Given the description of an element on the screen output the (x, y) to click on. 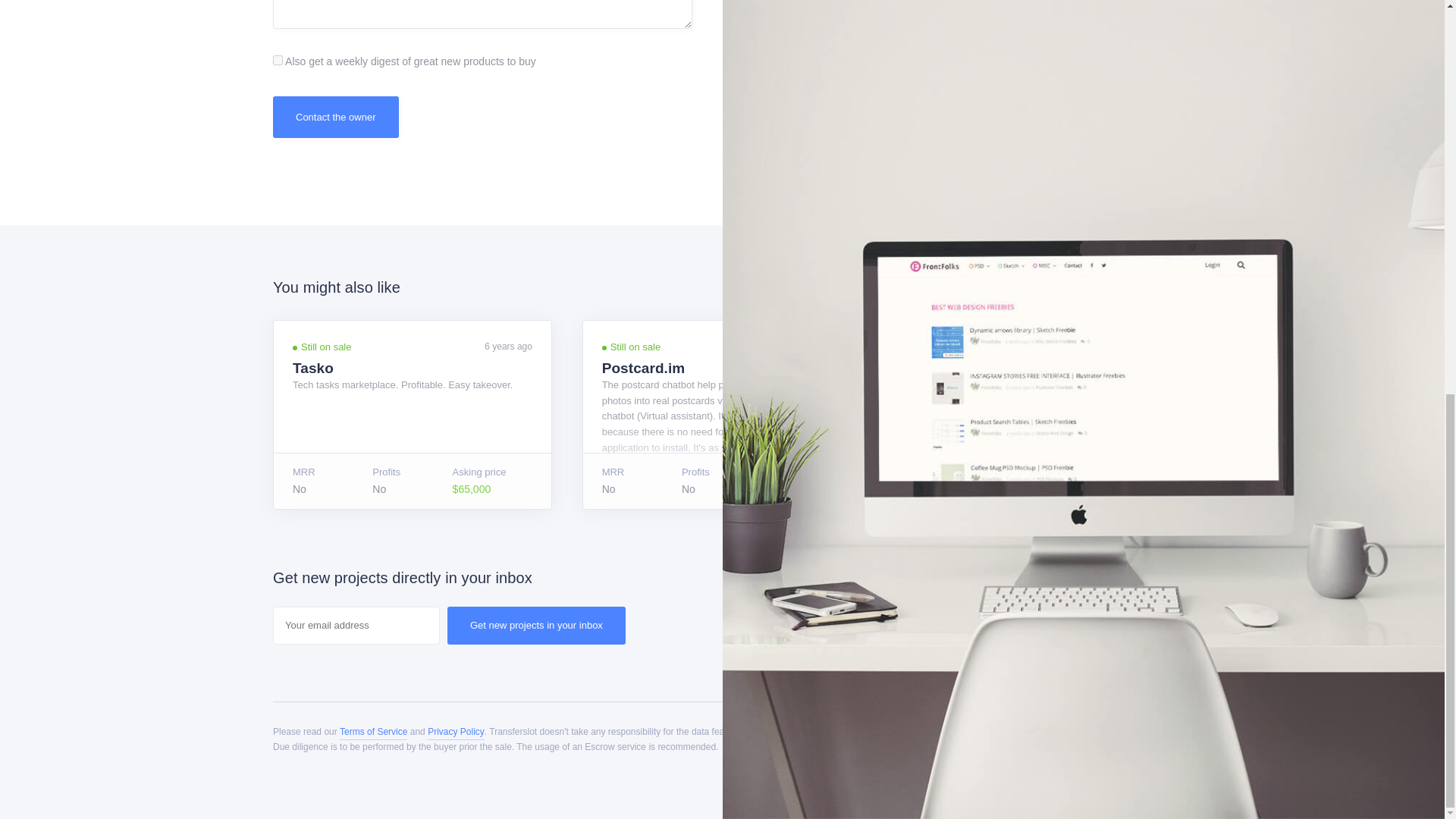
Contact the owner (335, 117)
Postcard.im is for sale (721, 414)
Terms of Service (373, 732)
MyLysts is for sale (1030, 414)
Get new projects in your inbox (536, 625)
Tasko is for sale (412, 414)
1 (277, 60)
Contact the owner (335, 117)
Privacy Policy (456, 732)
Get new projects in your inbox (536, 625)
